Given the description of an element on the screen output the (x, y) to click on. 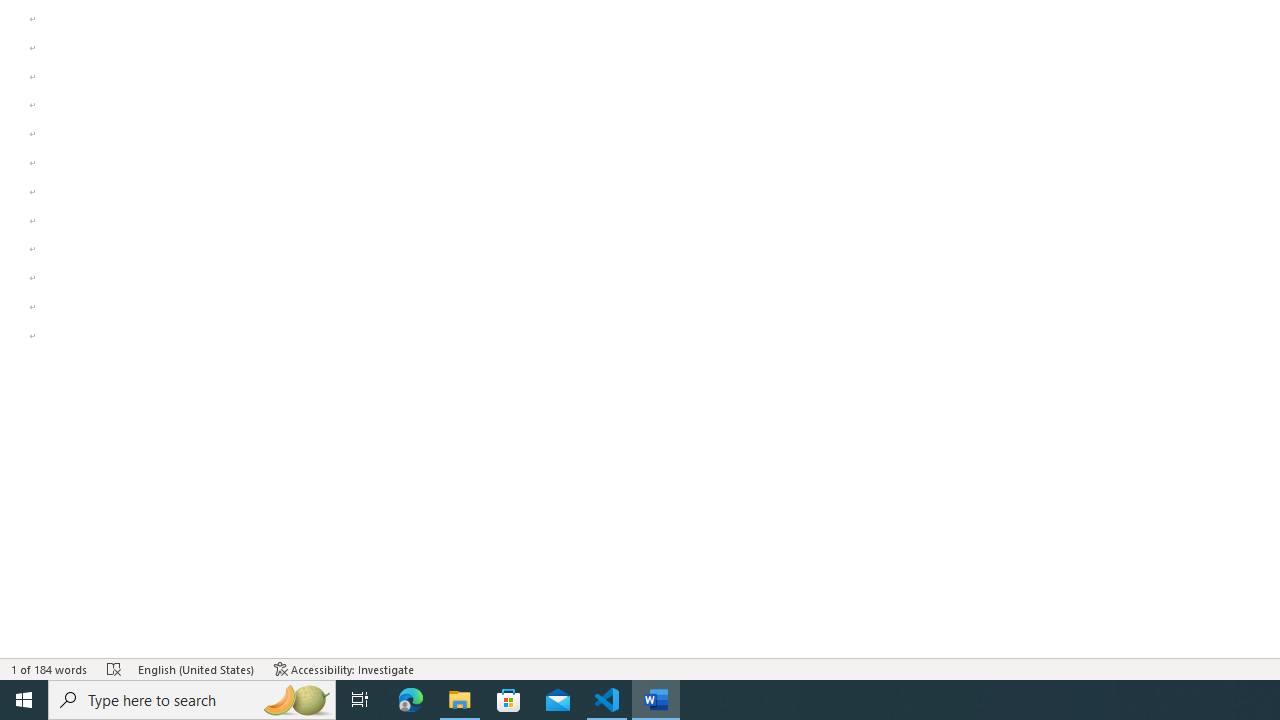
Word Count 1 of 184 words (49, 668)
